Given the description of an element on the screen output the (x, y) to click on. 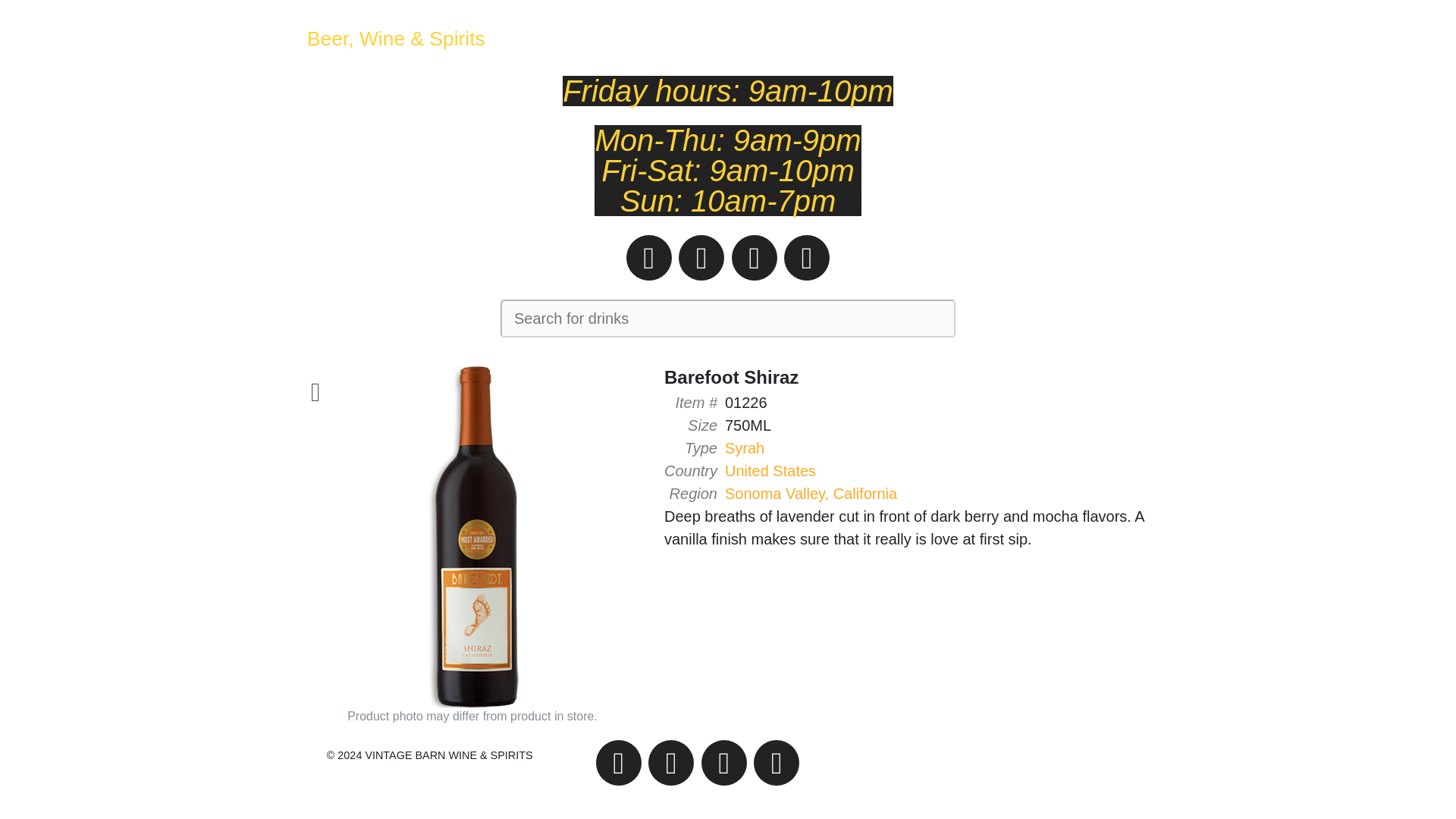
Sales (1024, 38)
Call 508-672-9541 (618, 762)
SALES (1024, 38)
Directions to Vintage Barn (700, 257)
SALES (1024, 38)
Call 508-672-9541 (648, 257)
Facebook (806, 257)
Twitter (754, 257)
Home (395, 39)
SEARCH (958, 38)
